Given the description of an element on the screen output the (x, y) to click on. 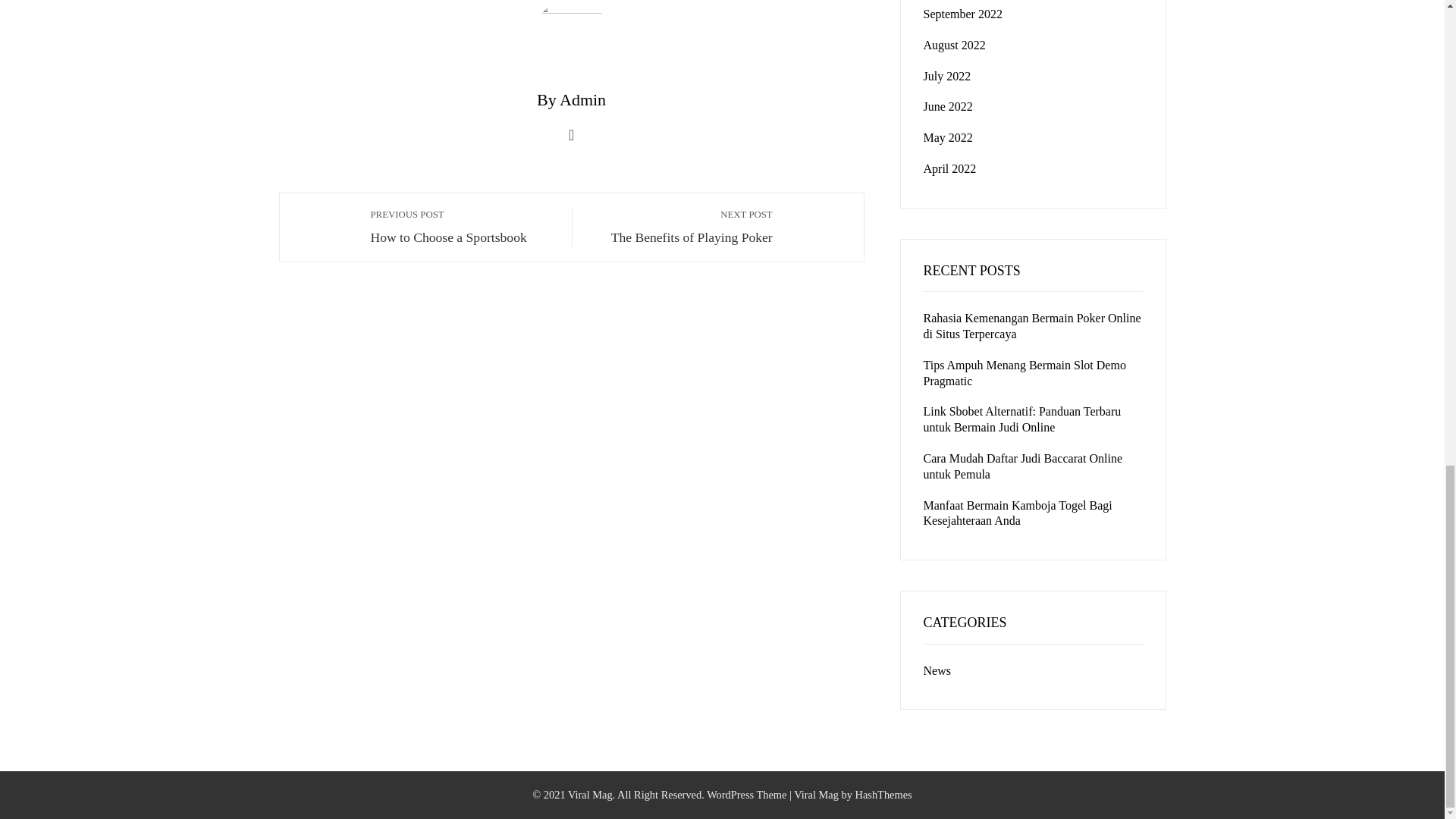
Download Viral News (815, 794)
September 2022 (462, 226)
